Given the description of an element on the screen output the (x, y) to click on. 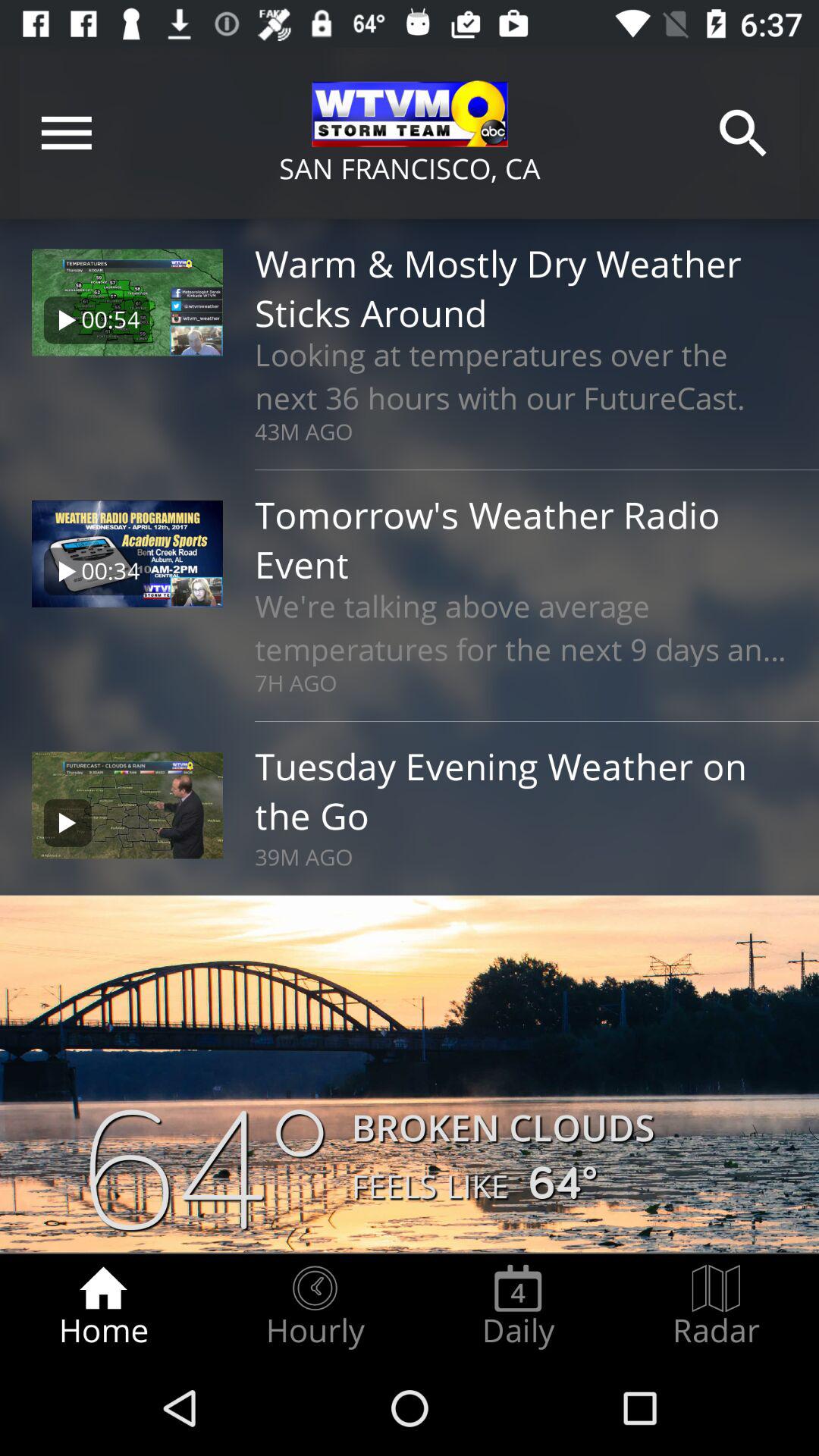
press radio button to the left of the hourly (103, 1307)
